Given the description of an element on the screen output the (x, y) to click on. 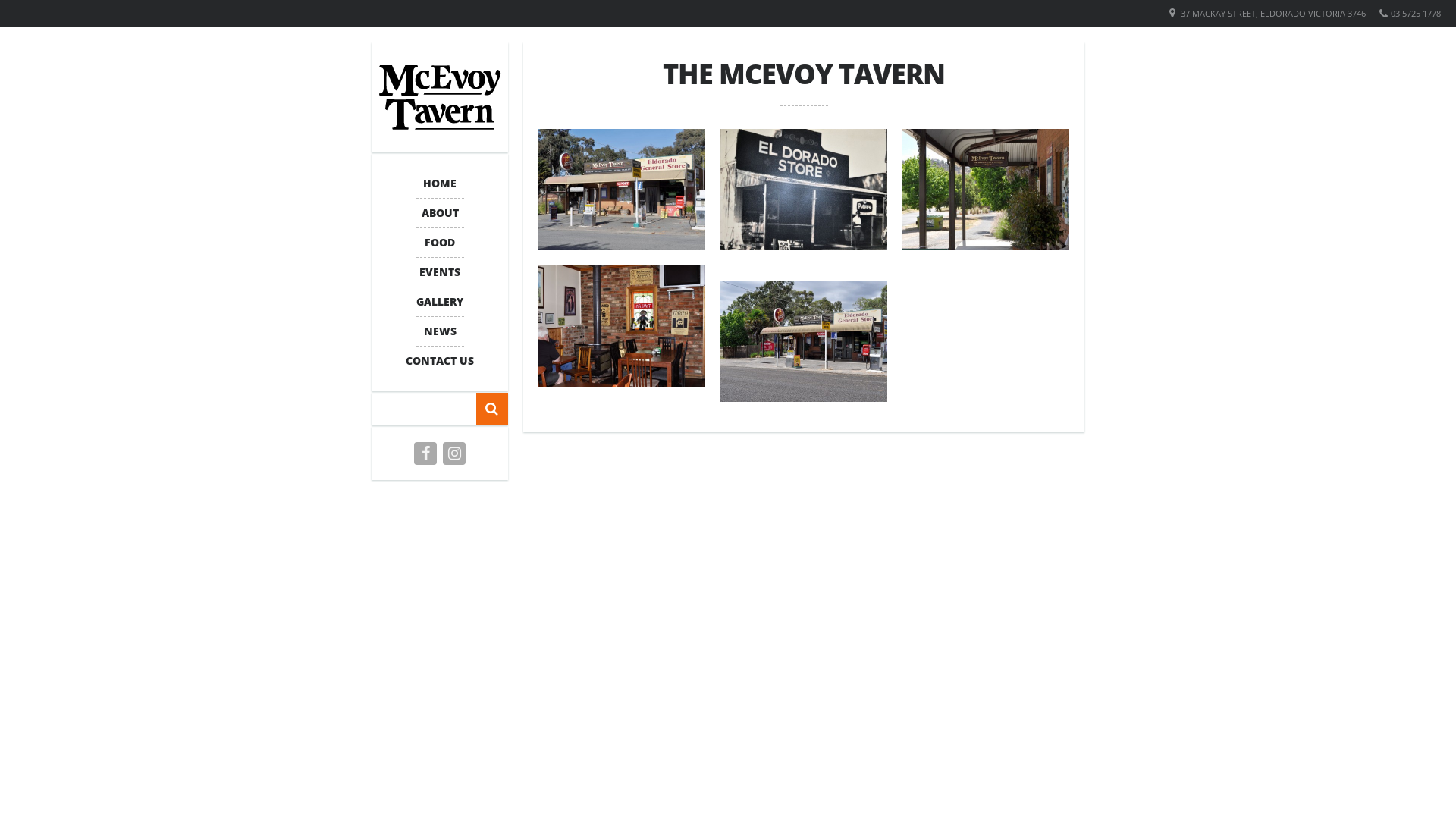
EVENTS Element type: text (439, 272)
The Dining Room Element type: hover (621, 325)
CONTACT US Element type: text (439, 360)
37 MACKAY STREET, ELDORADO VICTORIA 3746 Element type: text (1272, 12)
Front Entrance Element type: hover (985, 189)
FOOD Element type: text (439, 242)
ABOUT Element type: text (439, 212)
NEWS Element type: text (439, 331)
GALLERY Element type: text (439, 301)
View from the Street Element type: hover (621, 189)
HOME Element type: text (439, 183)
Original Store Building Element type: hover (803, 189)
